Given the description of an element on the screen output the (x, y) to click on. 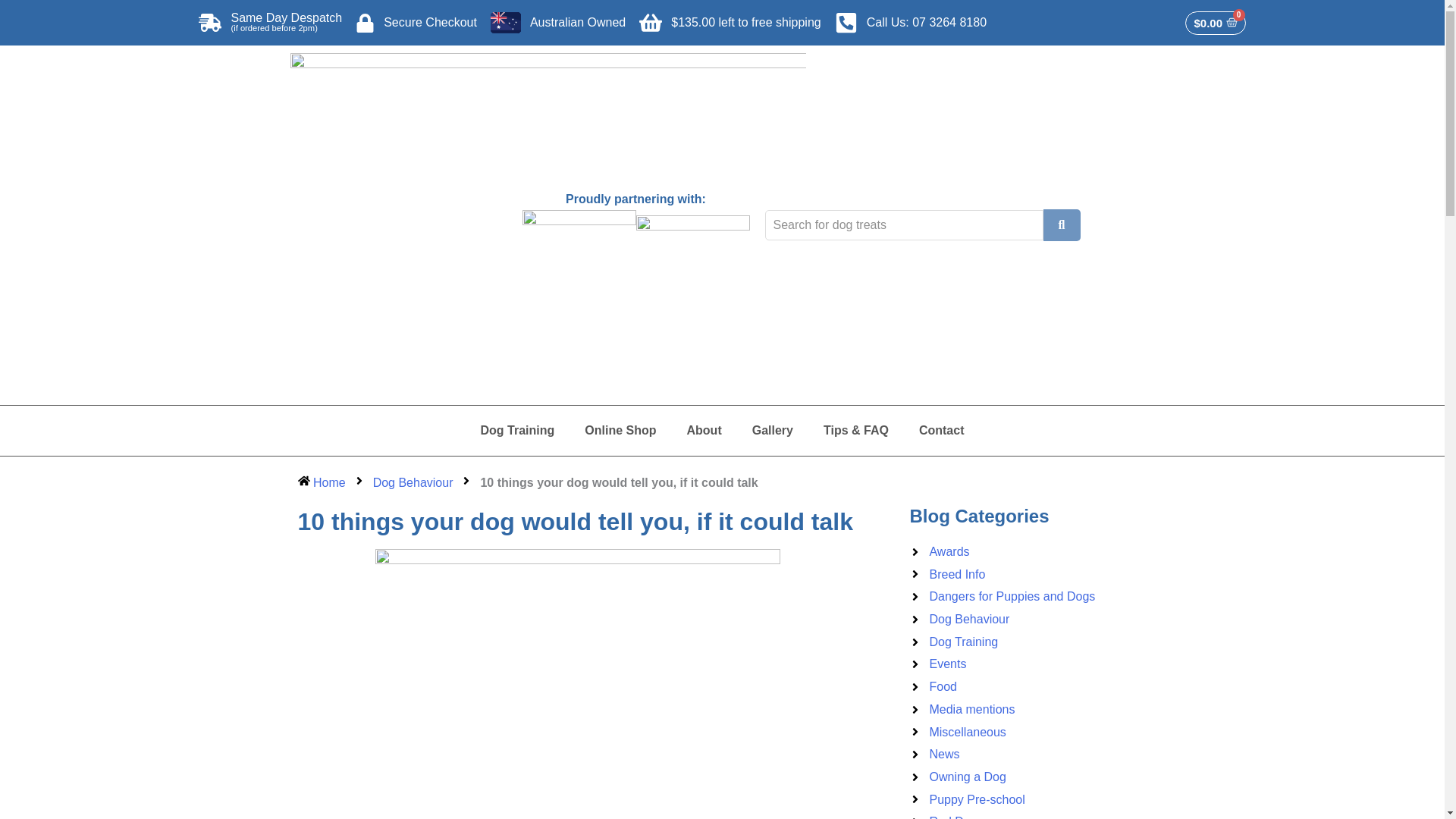
10 things your dog would tell you, if it could talk (618, 482)
About (703, 430)
Online Shop (620, 430)
Call Us: 07 3264 8180 (910, 22)
Gallery (772, 430)
Dog Training (517, 430)
Home (321, 482)
